Given the description of an element on the screen output the (x, y) to click on. 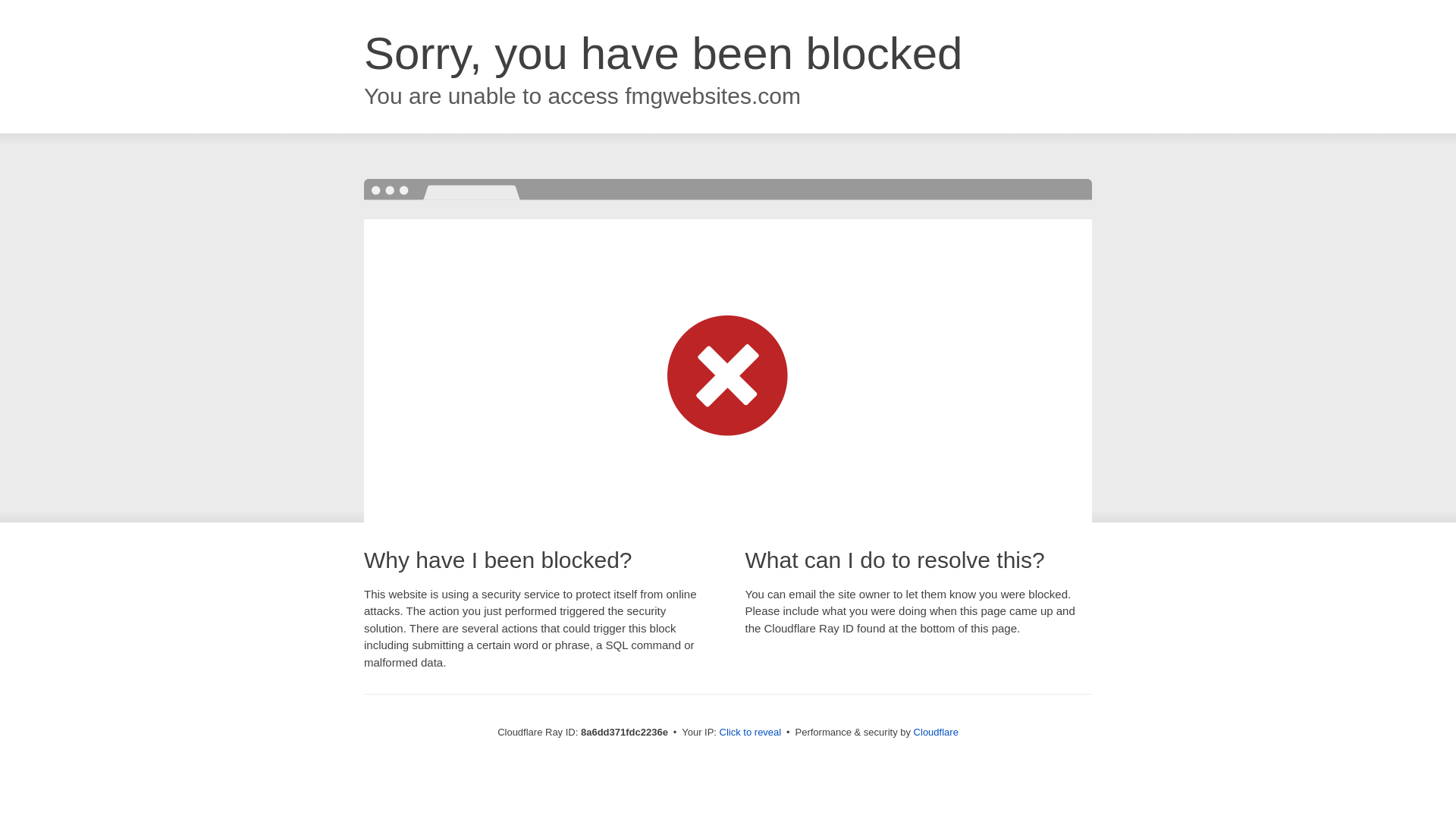
Click to reveal (750, 732)
Cloudflare (936, 731)
